Given the description of an element on the screen output the (x, y) to click on. 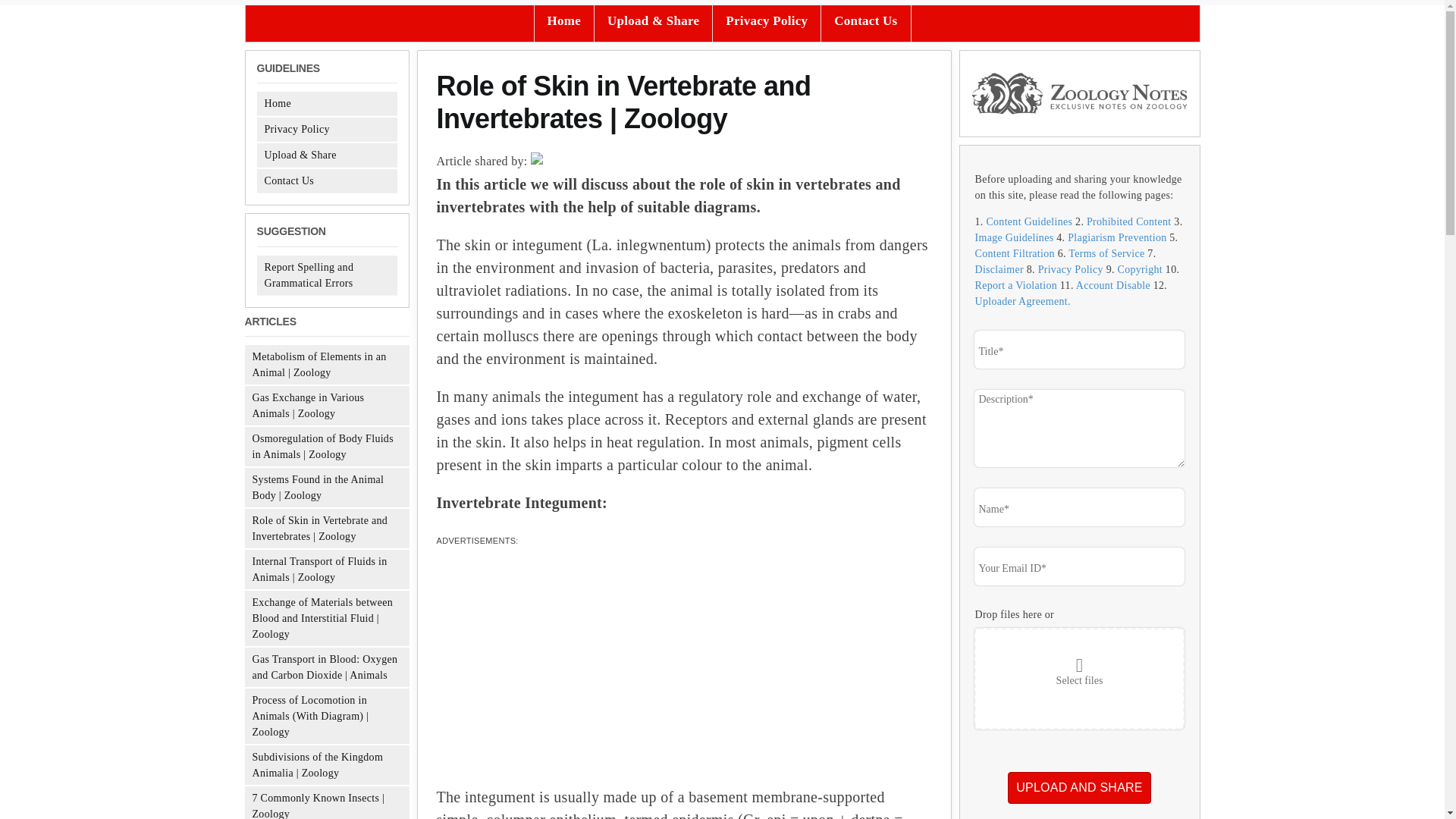
Privacy Policy (767, 20)
Advertisement (683, 673)
Privacy Policy (296, 129)
Contact Us (865, 20)
Home (563, 20)
Contact Us (288, 180)
Home (276, 102)
Report Spelling and Grammatical Errors (308, 275)
